Given the description of an element on the screen output the (x, y) to click on. 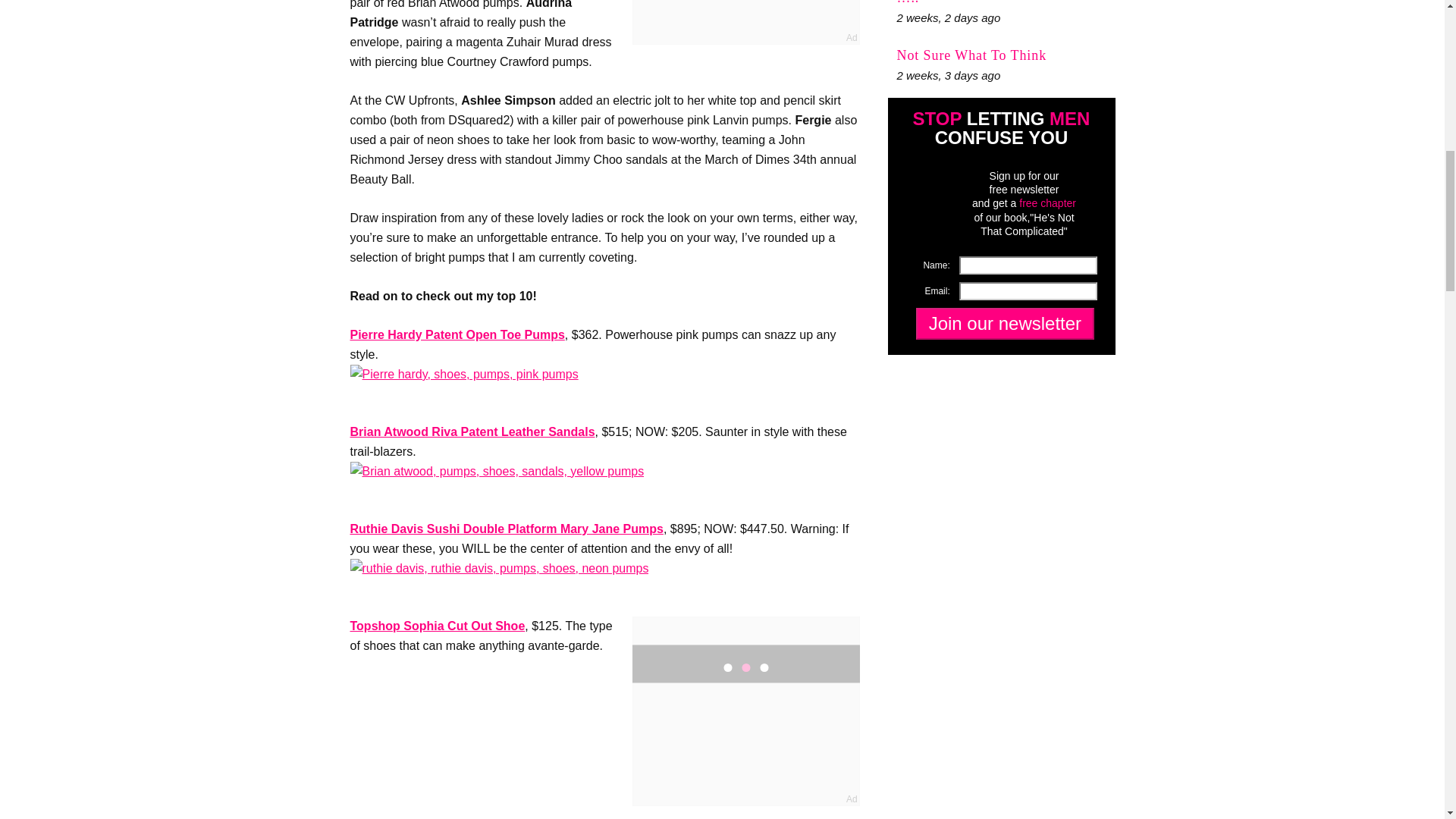
Pierre hardy, shoes, pumps, pink pumps (464, 374)
ruthie davis, ruthie davis, pumps, shoes, neon pumps (499, 568)
Join our newsletter (1004, 323)
Brian atwood, pumps, shoes, sandals, yellow pumps  (497, 471)
Pierre Hardy Patent Open Toe Pumps (457, 334)
Topshop Sophia Cut Out Shoe (437, 625)
Brian Atwood Riva Patent Leather Sandals (472, 431)
Ruthie Davis Sushi Double Platform Mary Jane Pumps (506, 528)
